Given the description of an element on the screen output the (x, y) to click on. 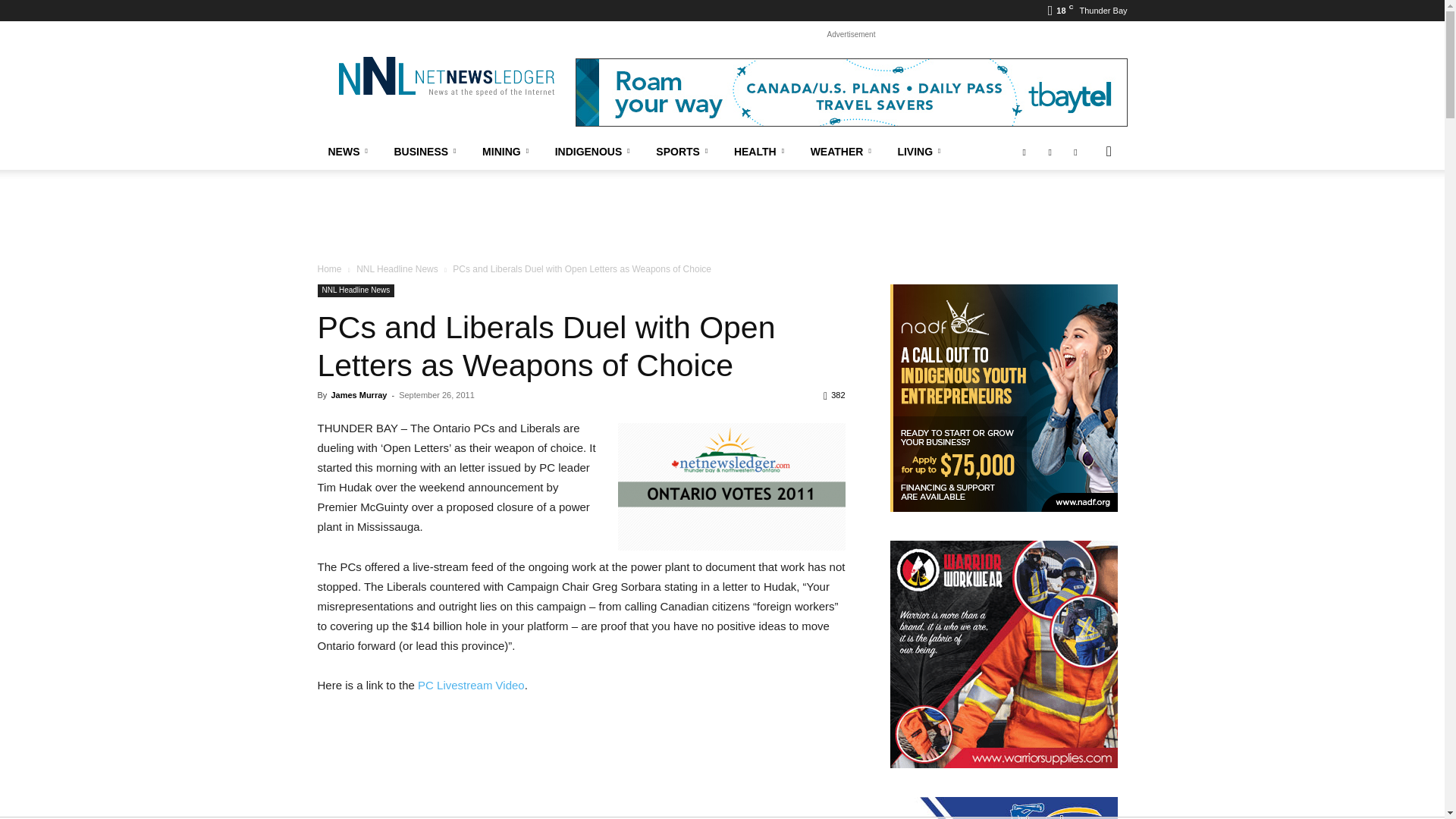
NetNewsLedger (445, 76)
electionontario2011 (730, 486)
tbaytel (850, 92)
View all posts in NNL Headline News (397, 268)
